Given the description of an element on the screen output the (x, y) to click on. 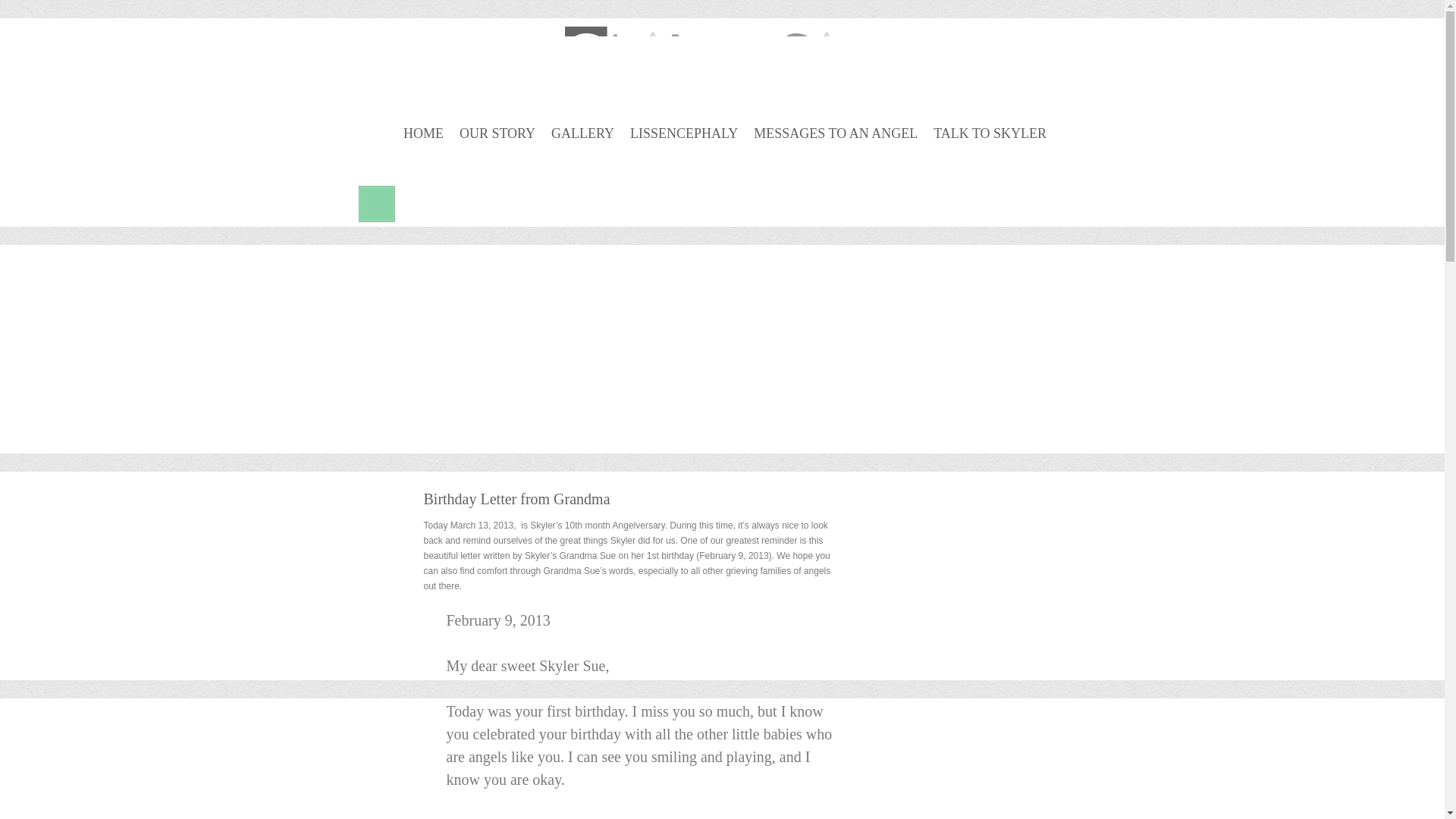
HOME (423, 133)
Birthday Letter from Grandma (516, 498)
Permalink to Birthday Letter from Grandma (516, 498)
OUR STORY (497, 133)
TALK TO SKYLER (989, 133)
GALLERY (582, 133)
MESSAGES TO AN ANGEL (835, 133)
LISSENCEPHALY (684, 133)
